Given the description of an element on the screen output the (x, y) to click on. 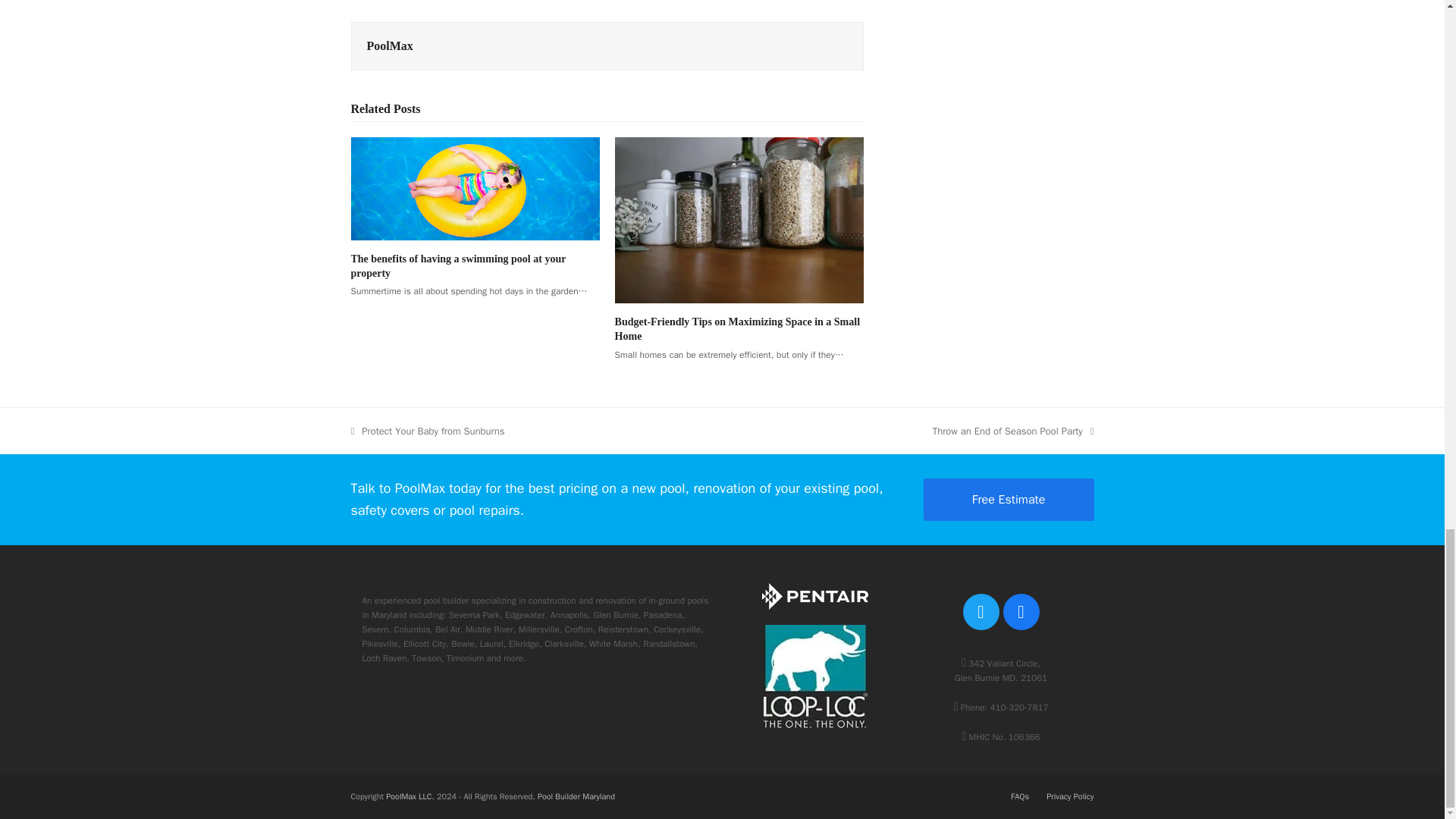
The benefits of having a swimming pool at your property (474, 187)
Budget-Friendly Tips on Maximizing Space  in a Small Home (738, 219)
Facebook (1021, 611)
Budget-Friendly Tips on Maximizing Space in a Small Home (737, 329)
Twitter (980, 611)
The benefits of having a swimming pool at your property (458, 266)
Visit Author Page (389, 45)
PoolMax (389, 45)
